Given the description of an element on the screen output the (x, y) to click on. 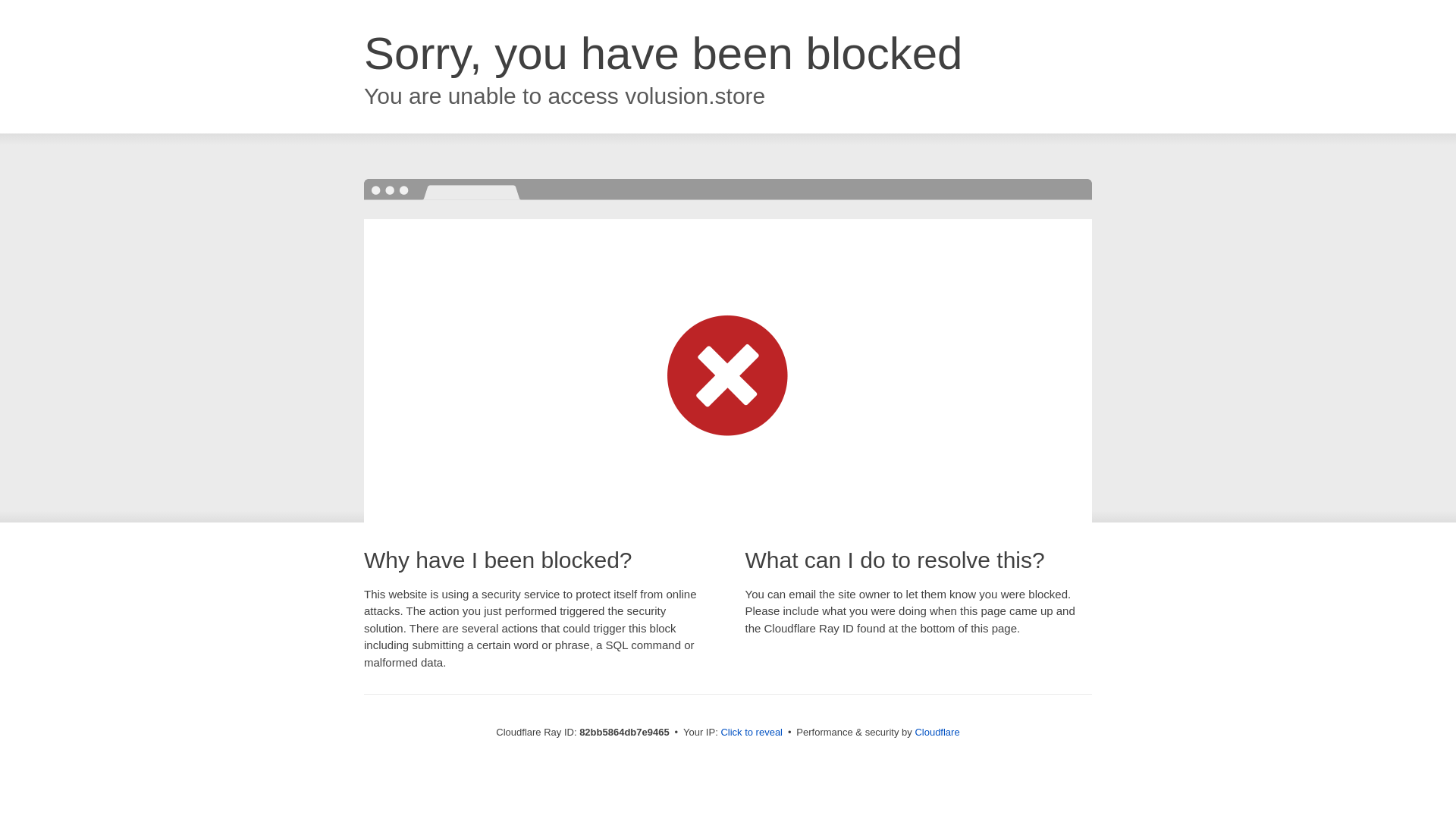
Cloudflare Element type: text (936, 731)
Click to reveal Element type: text (751, 732)
